Given the description of an element on the screen output the (x, y) to click on. 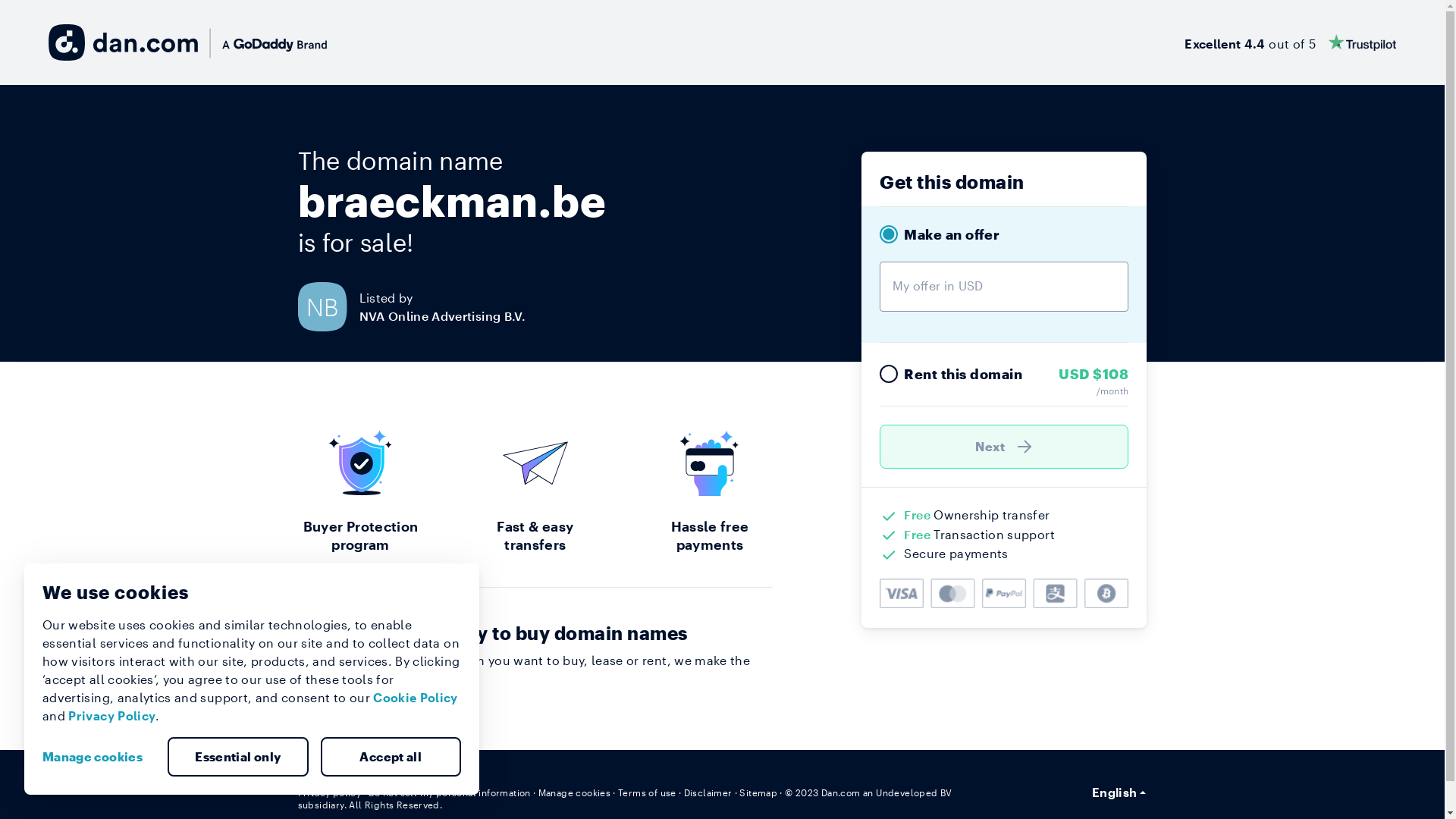
Privacy policy Element type: text (328, 792)
English Element type: text (1119, 792)
Accept all Element type: text (390, 756)
Terms of use Element type: text (647, 792)
Manage cookies Element type: text (98, 756)
Essential only Element type: text (237, 756)
Privacy Policy Element type: text (111, 715)
Sitemap Element type: text (758, 792)
Cookie Policy Element type: text (415, 697)
Next
) Element type: text (1003, 446)
Manage cookies Element type: text (574, 792)
Do not sell my personal information Element type: text (449, 792)
Excellent 4.4 out of 5 Element type: text (1290, 42)
Disclaimer Element type: text (708, 792)
